Given the description of an element on the screen output the (x, y) to click on. 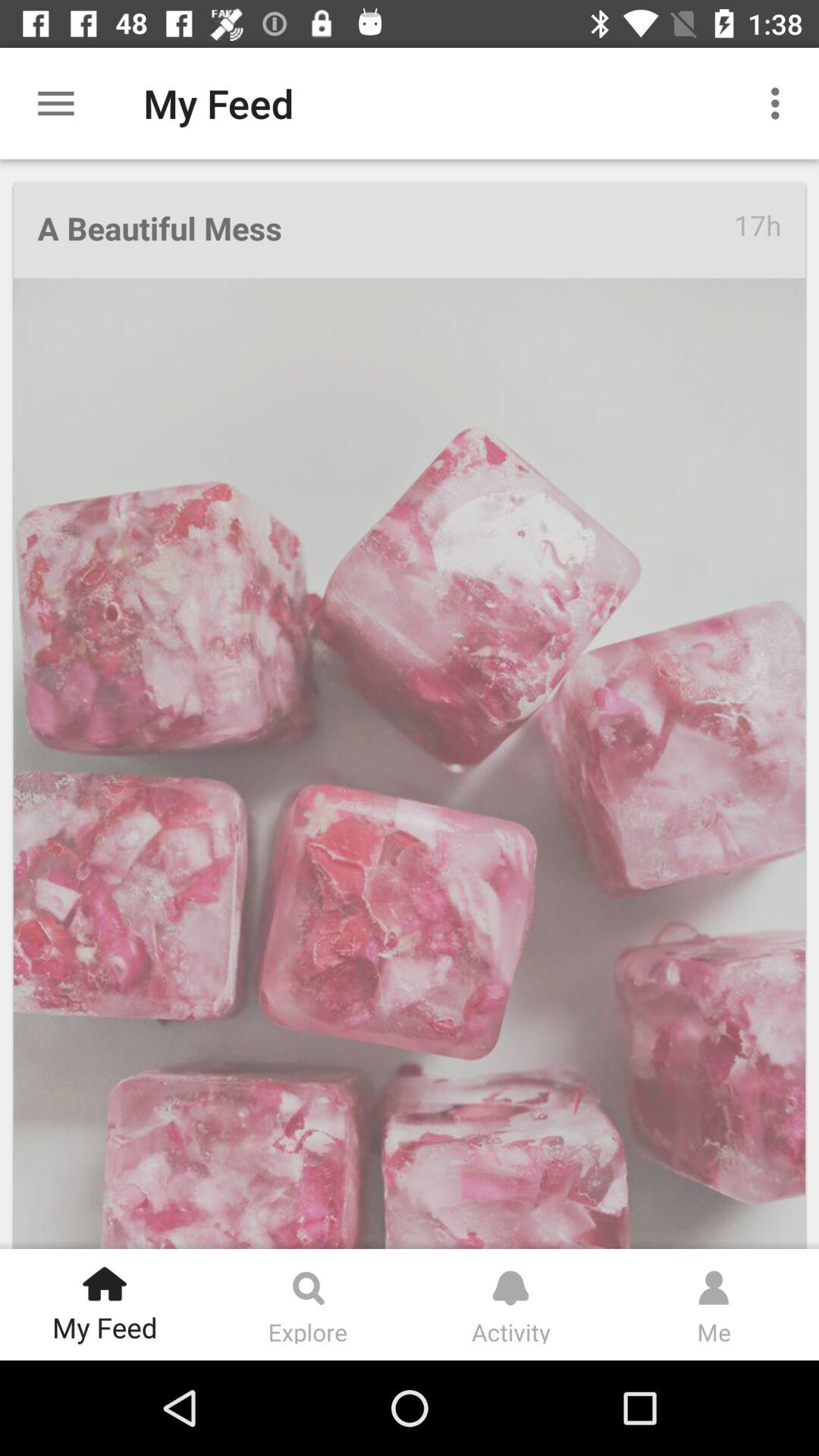
choose icon at the top (385, 230)
